Given the description of an element on the screen output the (x, y) to click on. 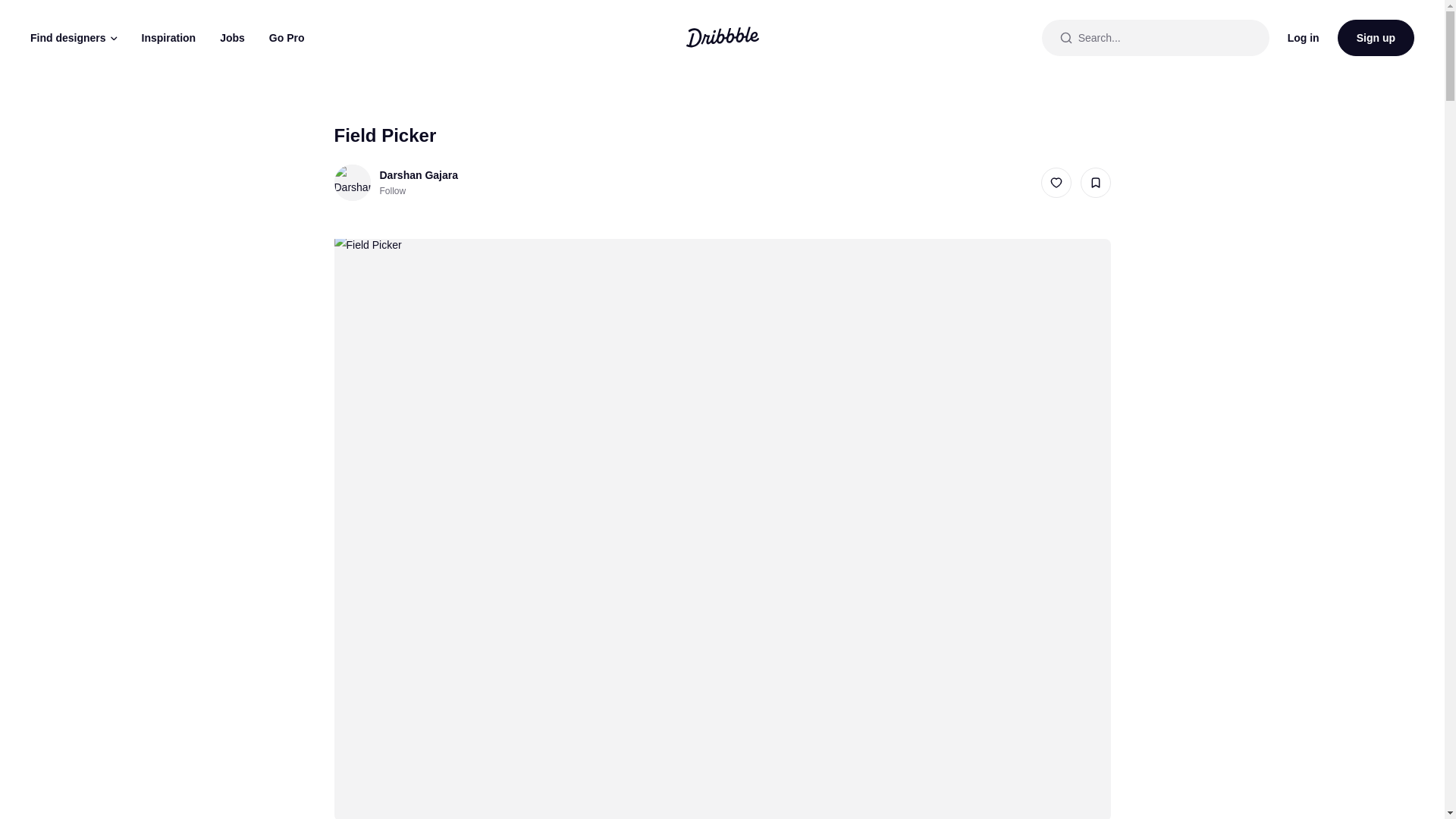
Like this shot (1055, 182)
Sign up (1375, 37)
Darshan Gajara (351, 182)
Follow Darshan Gajara (392, 190)
Save shot (1094, 182)
Darshan Gajara (418, 174)
Jobs (232, 37)
Find designers (73, 37)
Go Pro (287, 37)
Follow (392, 190)
